Given the description of an element on the screen output the (x, y) to click on. 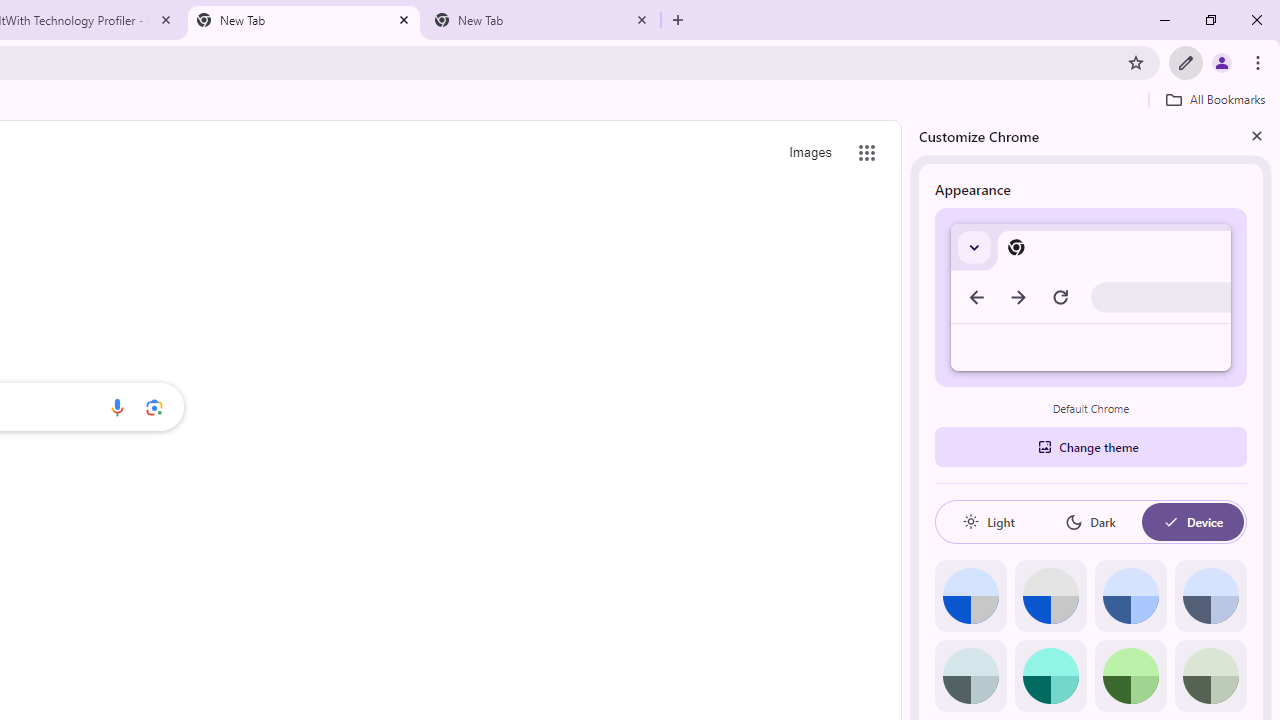
Search for Images  (810, 152)
Grey (970, 676)
Customize Chrome (1185, 62)
New Tab (541, 20)
Restore (1210, 20)
Bookmark this tab (1135, 62)
Cool grey (1210, 596)
Dark (1090, 521)
All Bookmarks (1215, 99)
Close (1256, 135)
Google apps (867, 152)
Search by image (153, 407)
Grey default color (1050, 596)
Aqua (1050, 676)
New Tab (678, 20)
